Given the description of an element on the screen output the (x, y) to click on. 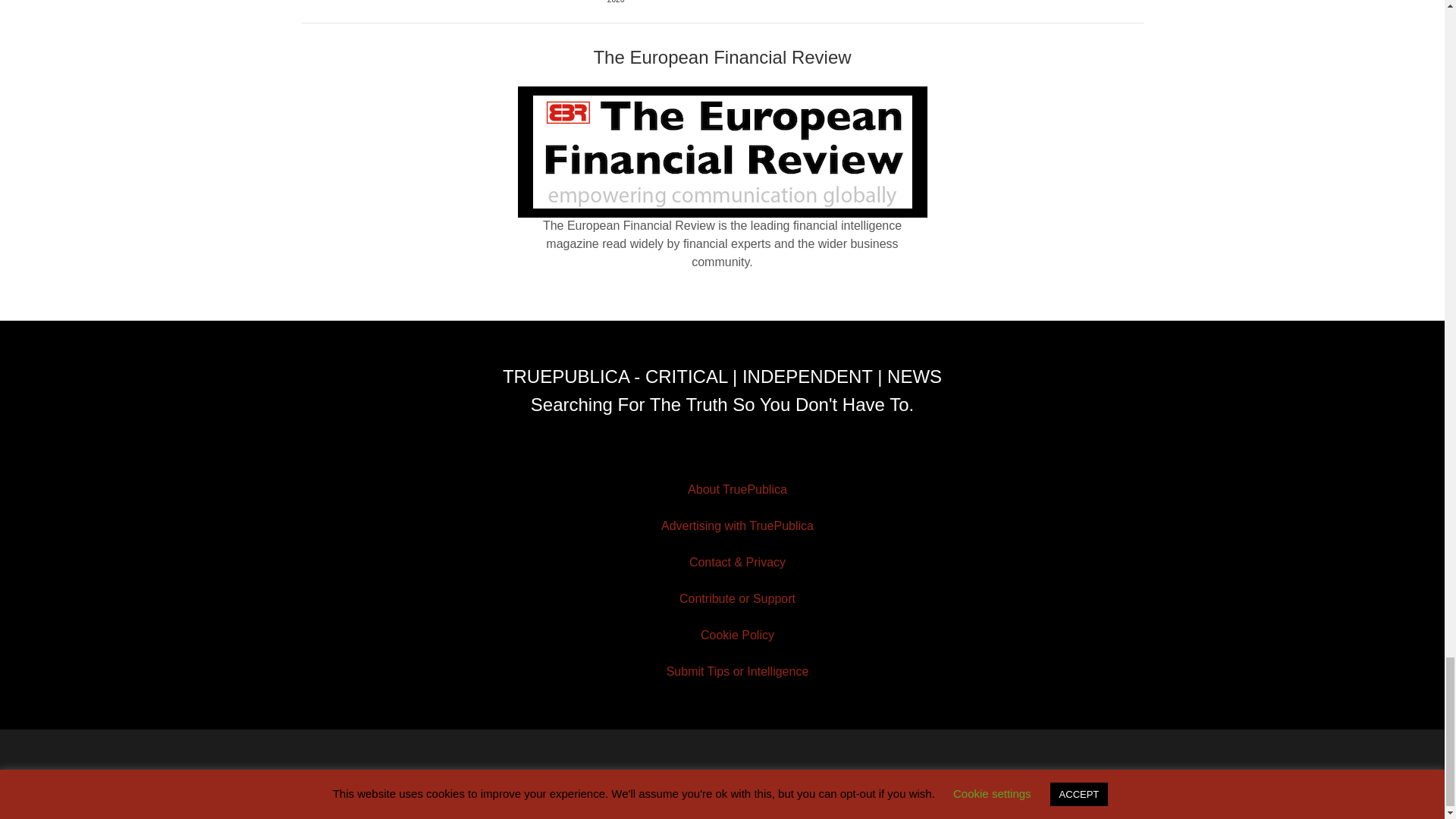
Got to European financial review website (721, 151)
